Given the description of an element on the screen output the (x, y) to click on. 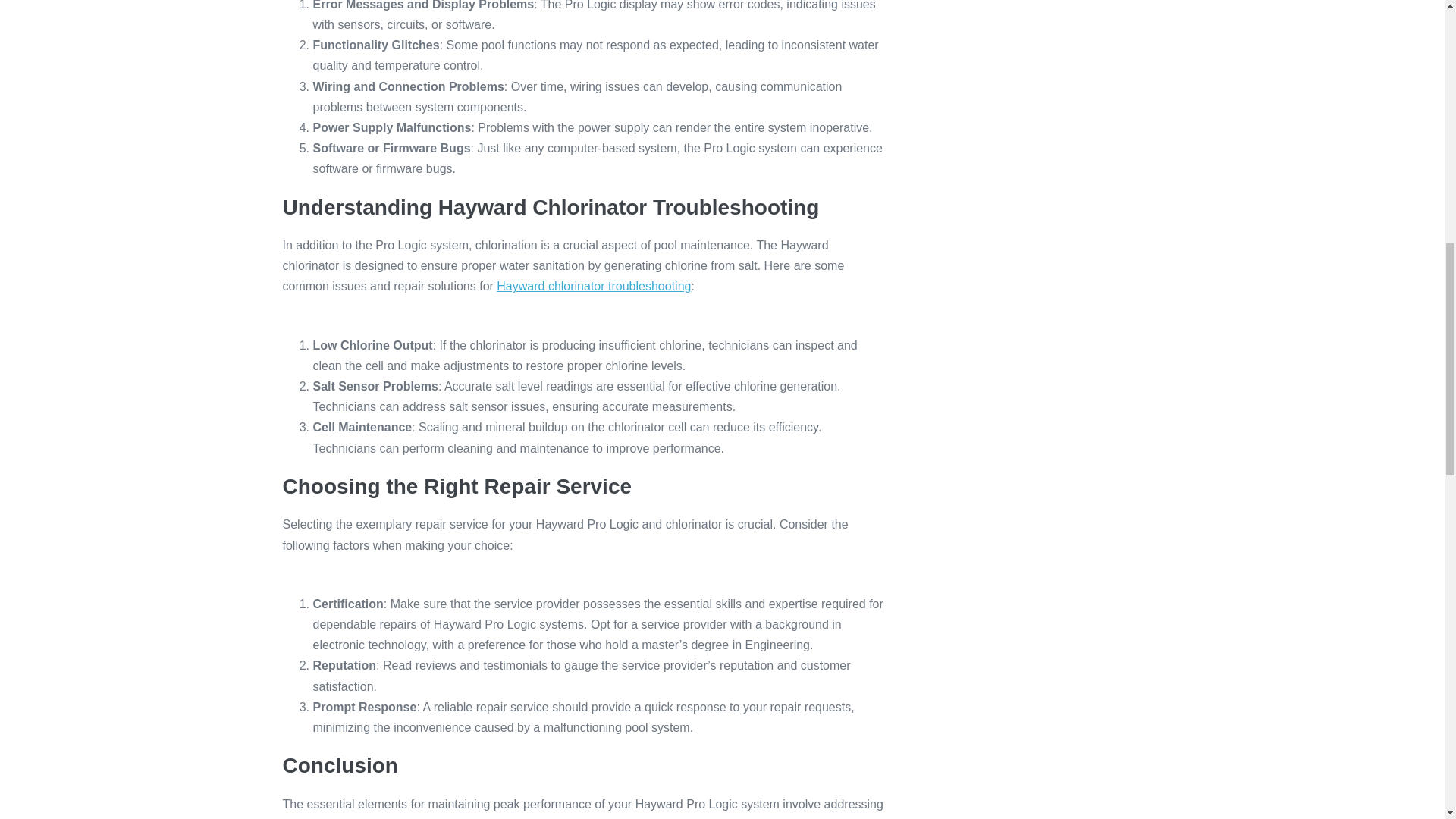
Hayward chlorinator troubleshooting (593, 286)
